Given the description of an element on the screen output the (x, y) to click on. 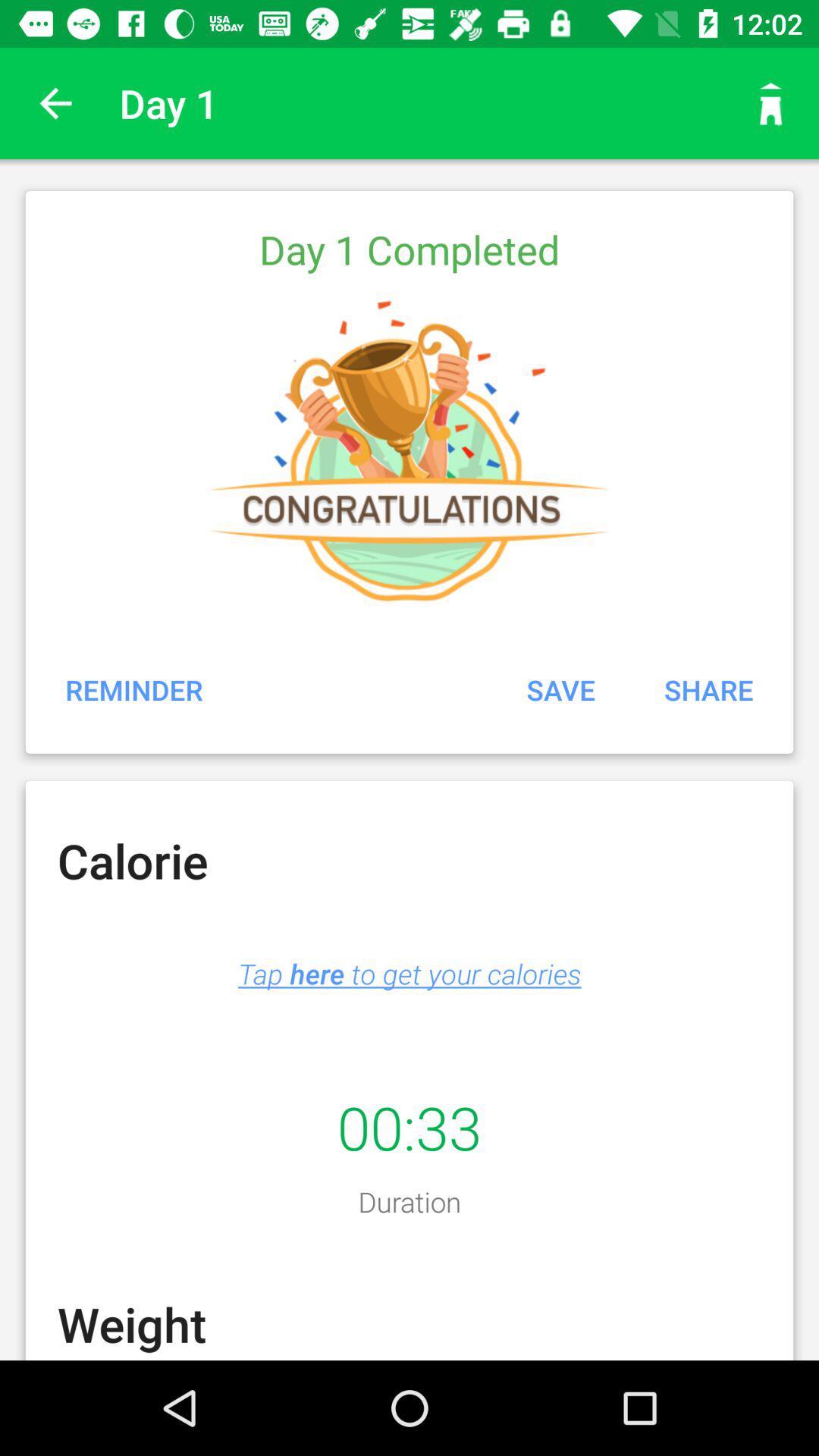
turn off icon to the right of reminder item (560, 689)
